Given the description of an element on the screen output the (x, y) to click on. 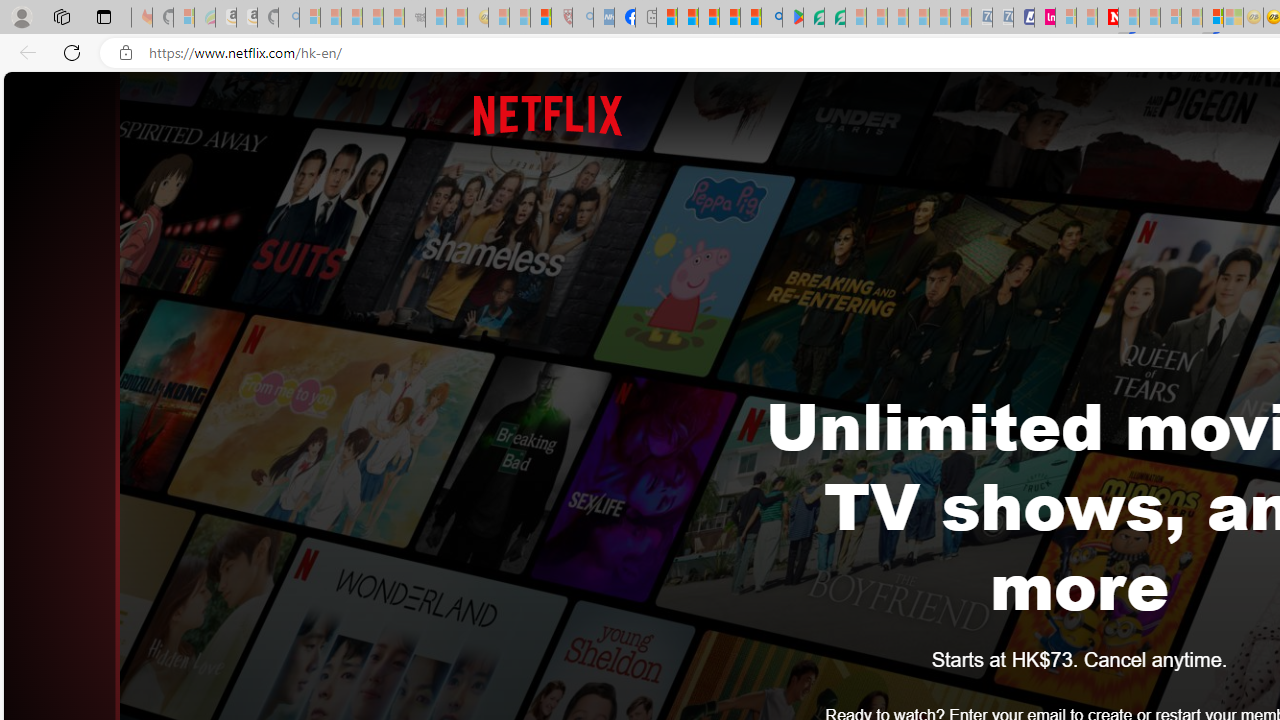
Latest Politics News & Archive | Newsweek.com (1107, 17)
